Given the description of an element on the screen output the (x, y) to click on. 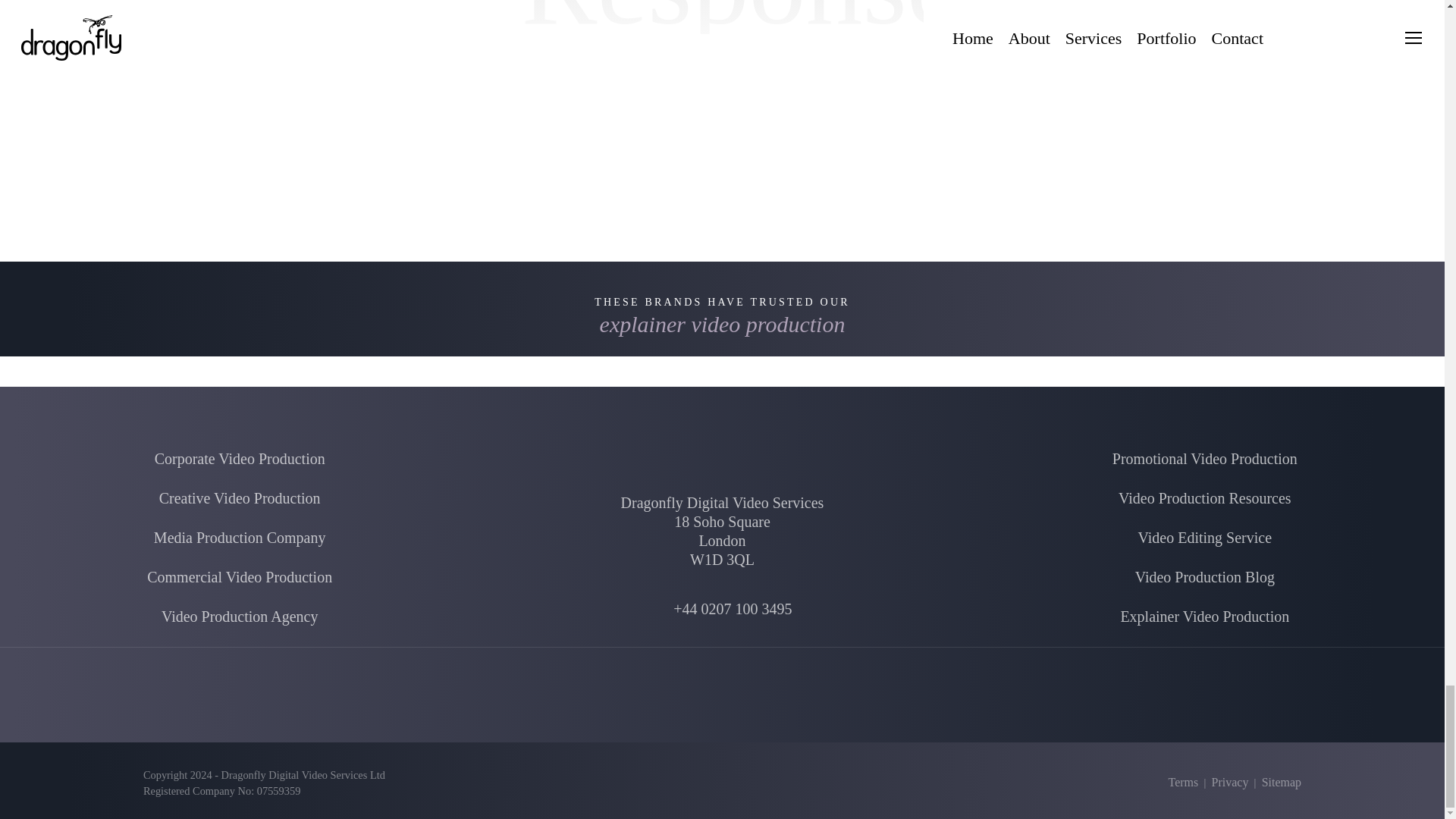
explainer video production (722, 324)
